Given the description of an element on the screen output the (x, y) to click on. 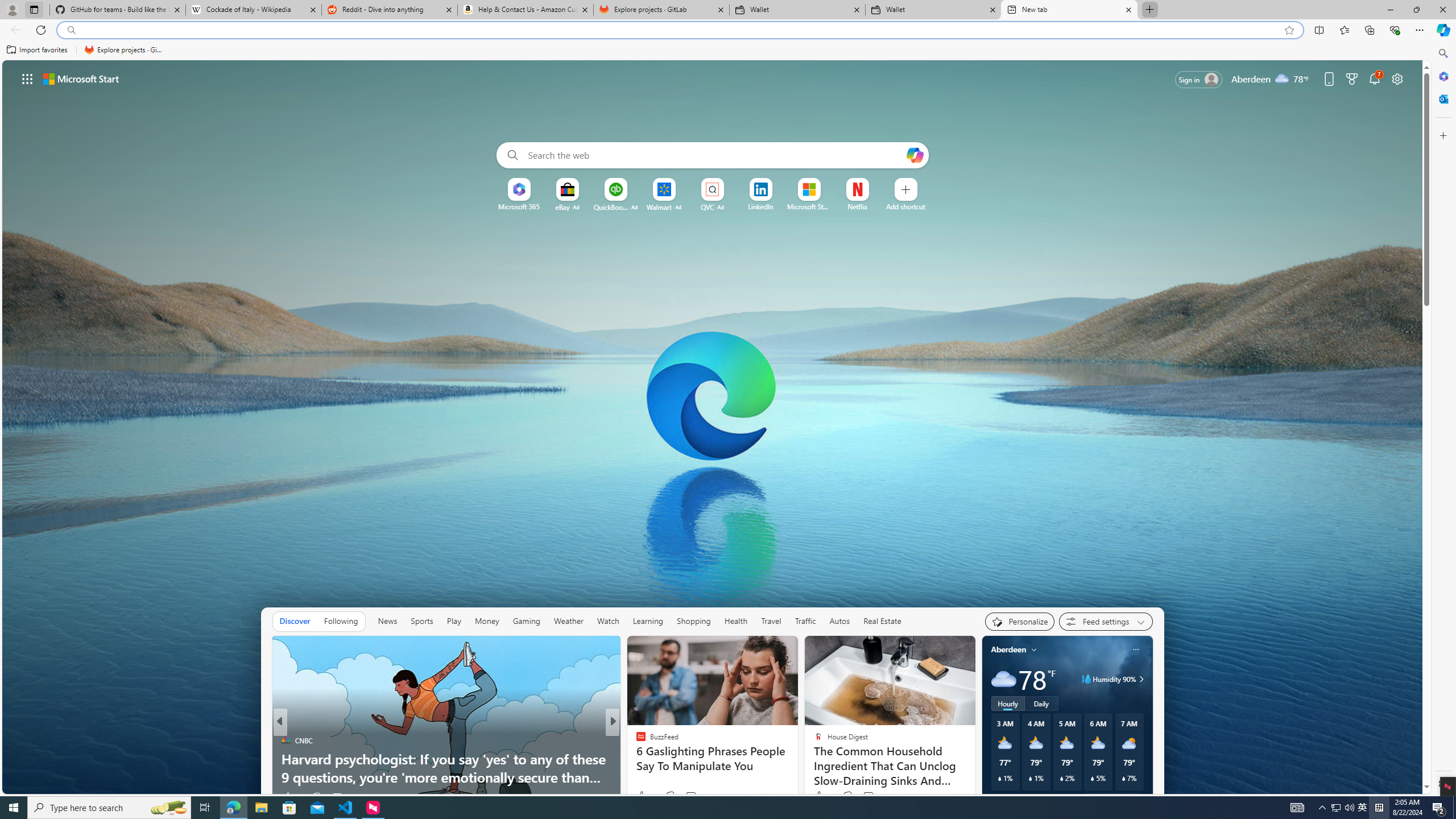
Class: icon-img (1135, 649)
Gaming (526, 621)
Real Estate (882, 621)
View comments 116 Comment (867, 795)
CNBC (286, 740)
Watch (607, 621)
Learning (648, 621)
173 Like (643, 796)
Dislike (847, 795)
